Given the description of an element on the screen output the (x, y) to click on. 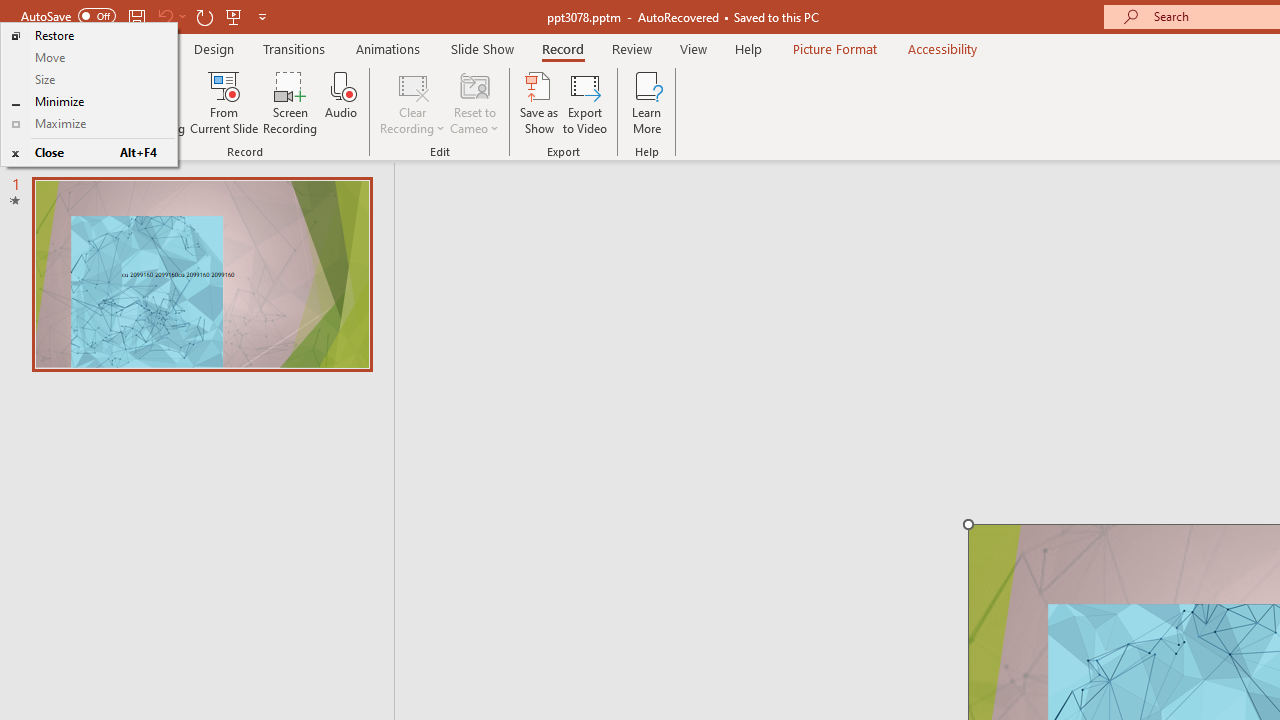
Move (88, 57)
